Given the description of an element on the screen output the (x, y) to click on. 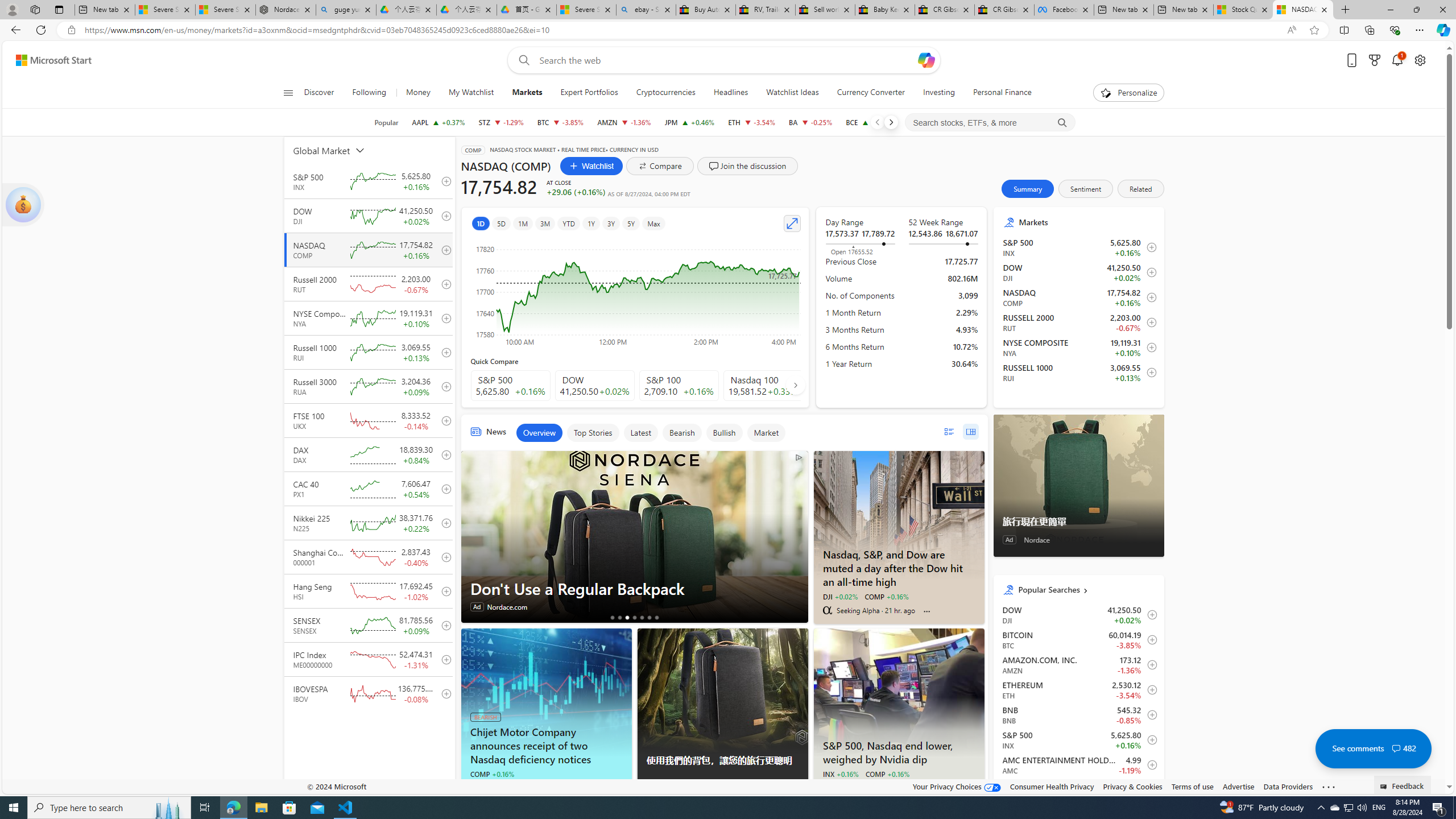
Open Copilot (925, 59)
Your Privacy Choices (956, 786)
AMZN AMAZON.COM, INC. decrease 173.12 -2.38 -1.36% (623, 122)
Class: recharts-surface (635, 292)
Address and search bar (680, 29)
Watchlist (591, 166)
BCE BCE Inc increase 35.22 +0.08 +0.23% (869, 122)
Terms of use (1192, 785)
Privacy & Cookies (1131, 785)
AutomationID: finance_carousel_navi_right (794, 384)
Watchlist Ideas (791, 92)
